Given the description of an element on the screen output the (x, y) to click on. 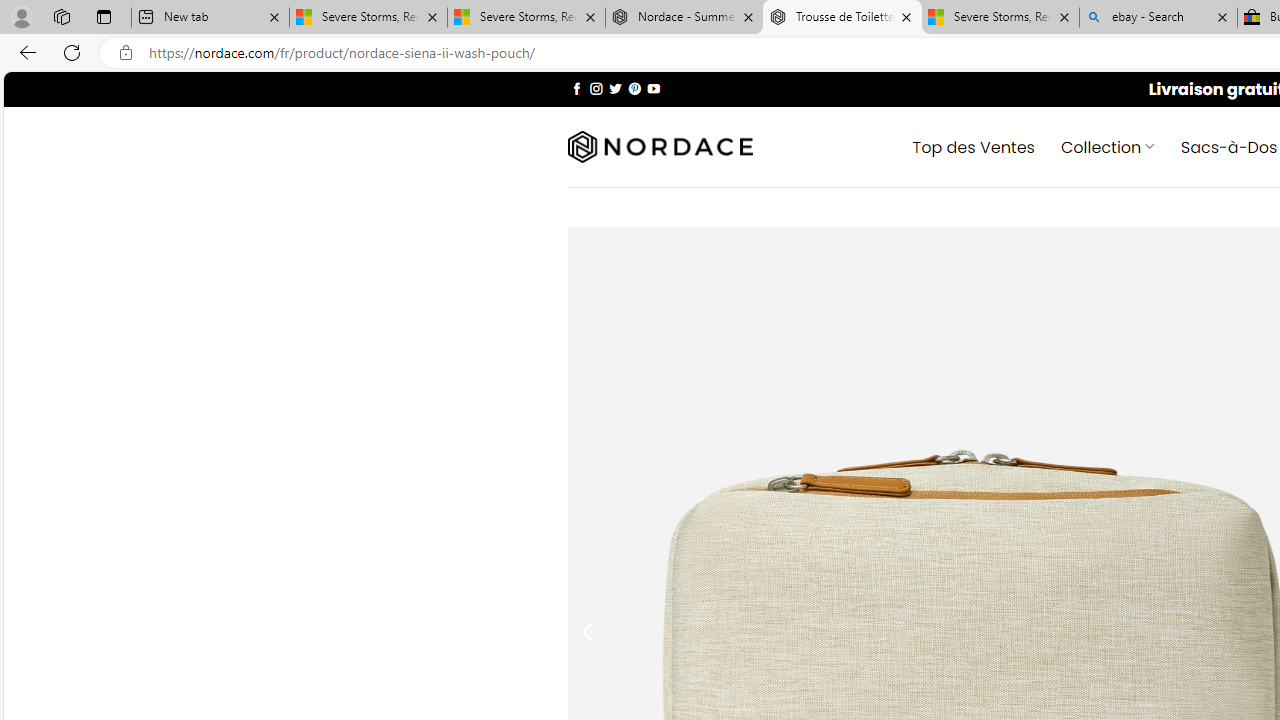
Nous suivre sur Instagram (596, 88)
Trousse de Toilette Nordace Siena Pro (842, 17)
Nous suivre sur Facebook (576, 88)
Nous suivre sur Pinterest (634, 88)
Nous suivre sur Twitter (615, 88)
ebay - Search (1158, 17)
